Given the description of an element on the screen output the (x, y) to click on. 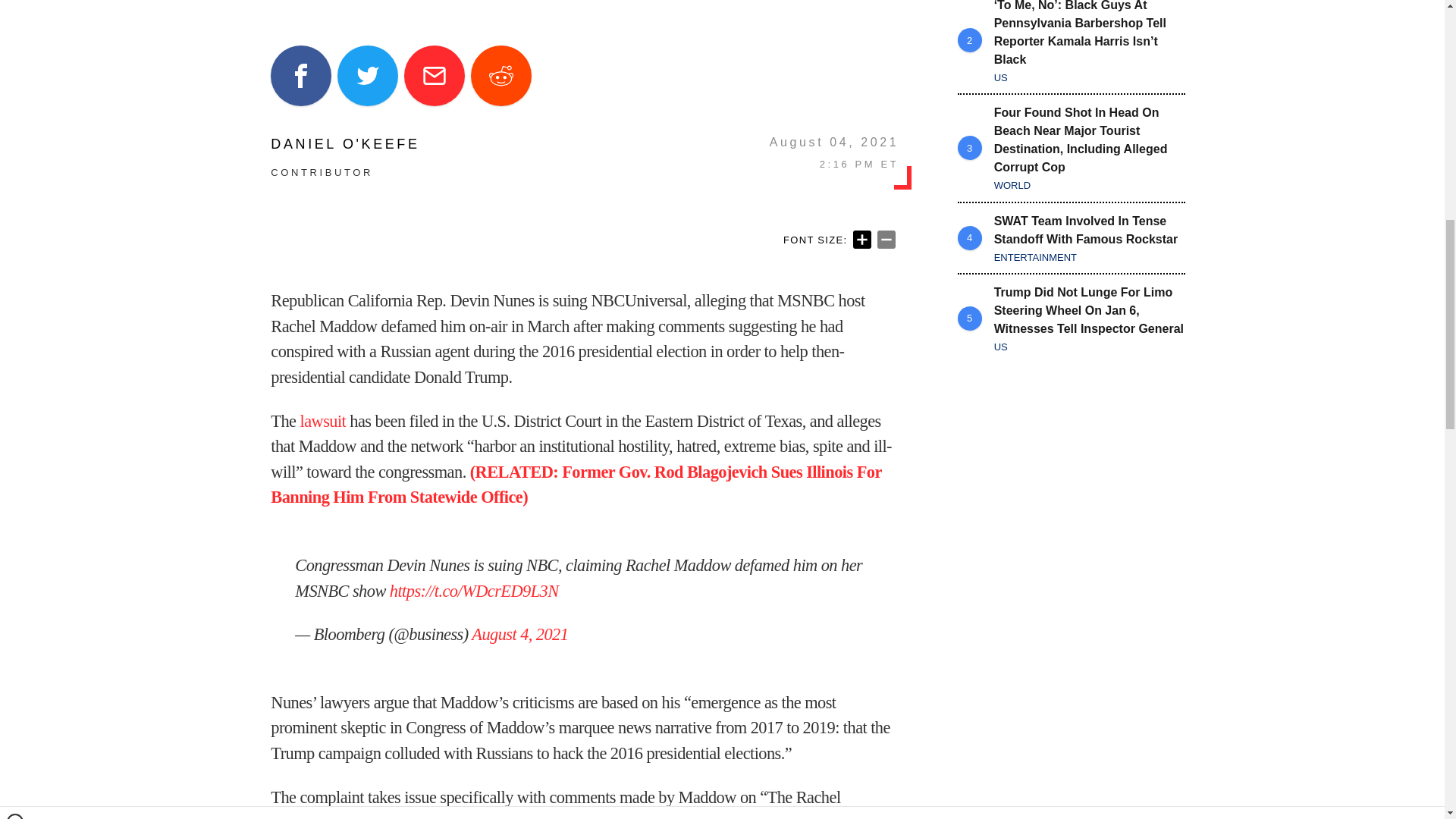
DANIEL O'KEEFE (344, 144)
View More Articles By Daniel O'Keefe (344, 144)
lawsuit (322, 420)
Close window (14, 6)
